Given the description of an element on the screen output the (x, y) to click on. 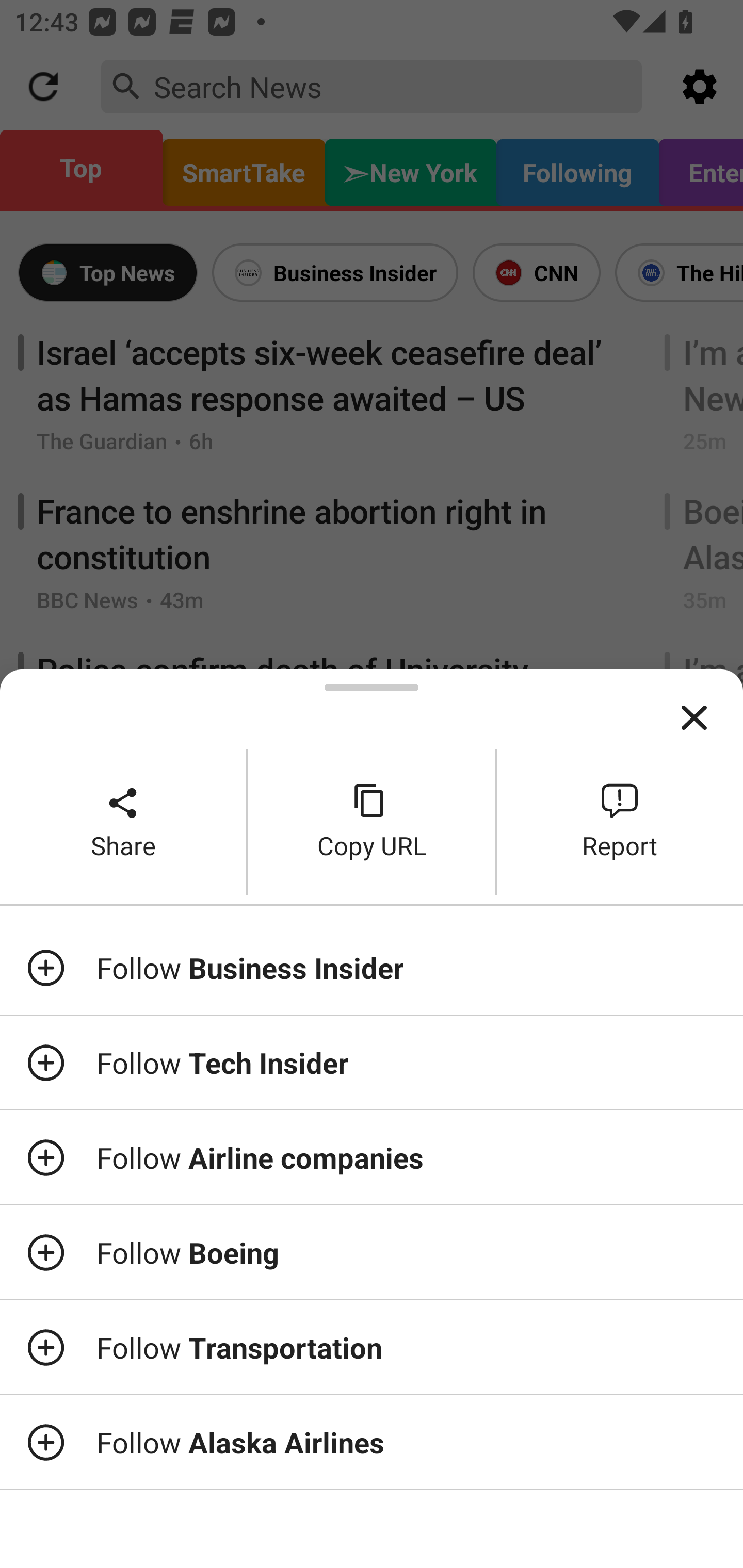
Close (694, 717)
Share (122, 822)
Copy URL (371, 822)
Report (620, 822)
Follow Business Insider (371, 967)
Follow Tech Insider (371, 1063)
Follow Airline companies (371, 1157)
Follow Boeing (371, 1252)
Follow Transportation (371, 1346)
Follow Alaska Airlines (371, 1442)
